Given the description of an element on the screen output the (x, y) to click on. 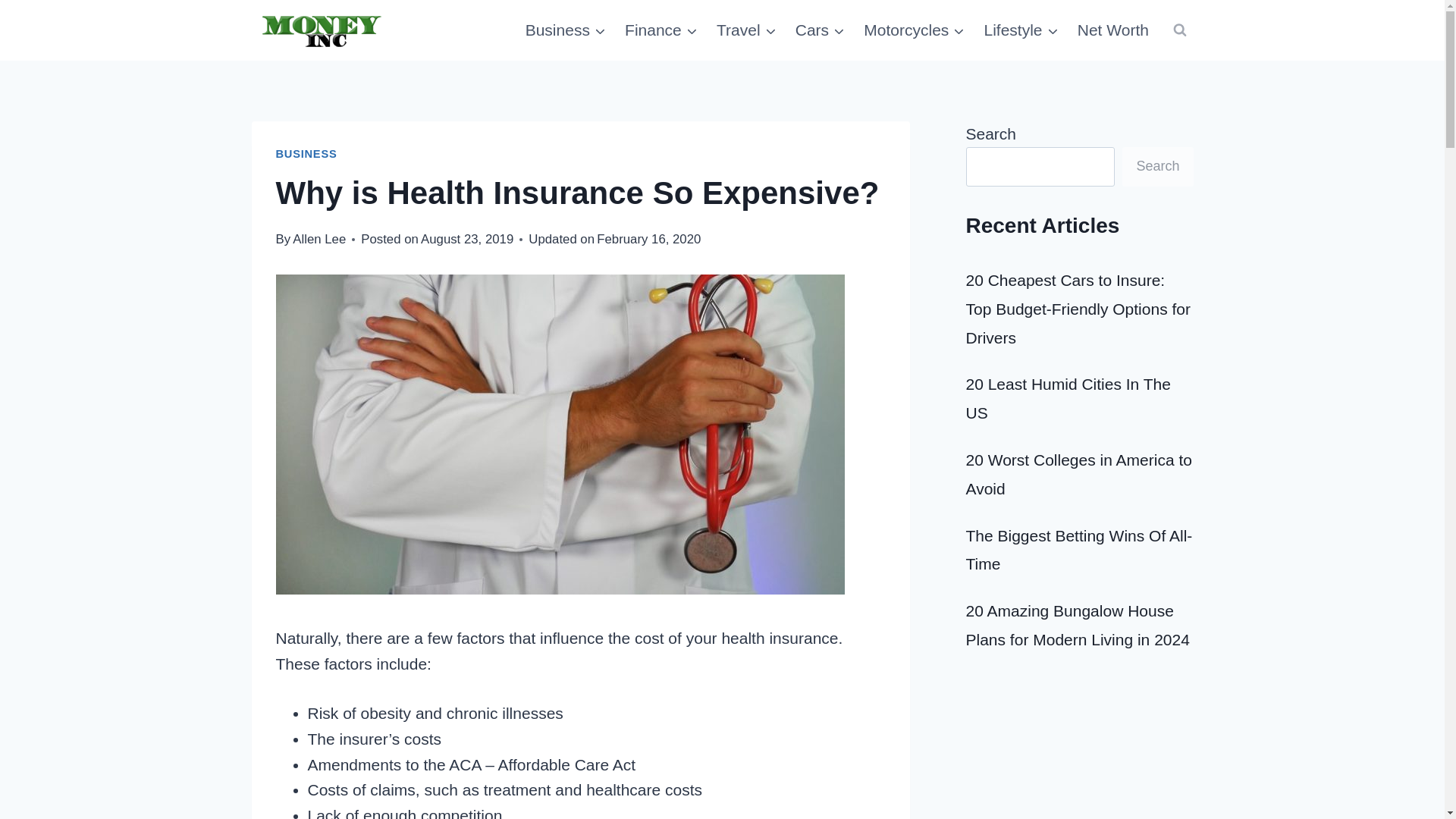
Business (564, 30)
Cars (820, 30)
Travel (746, 30)
Finance (661, 30)
